Given the description of an element on the screen output the (x, y) to click on. 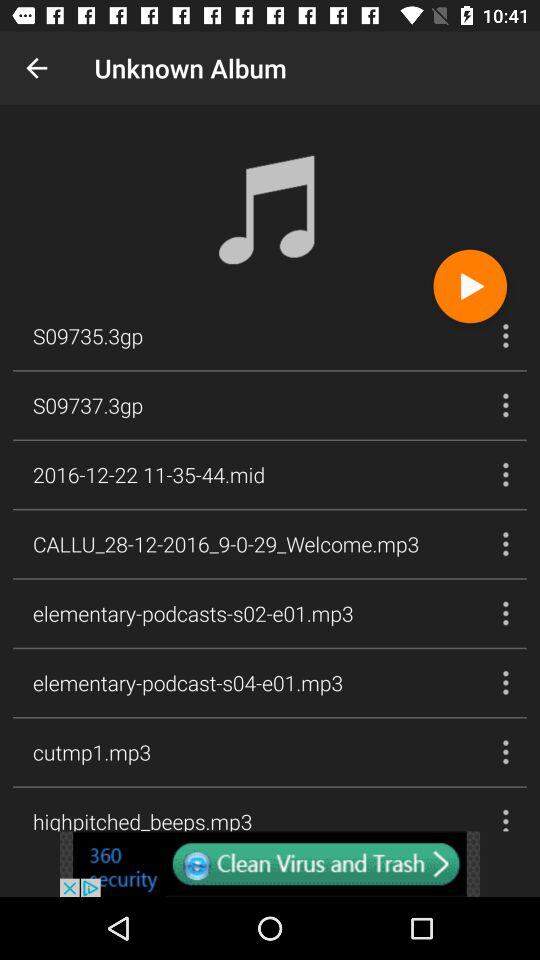
play (470, 286)
